Given the description of an element on the screen output the (x, y) to click on. 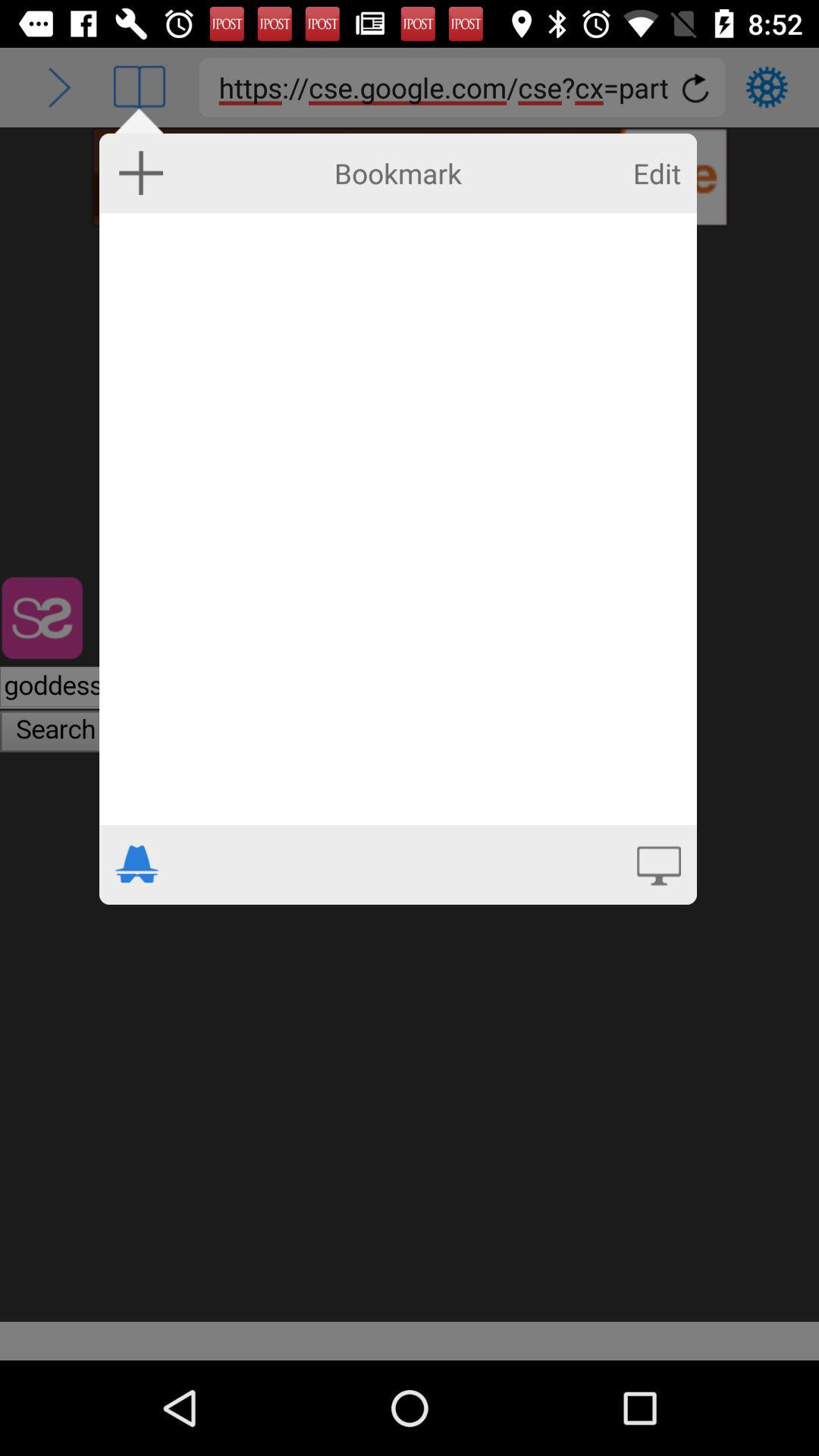
write a bookmark (397, 518)
